Given the description of an element on the screen output the (x, y) to click on. 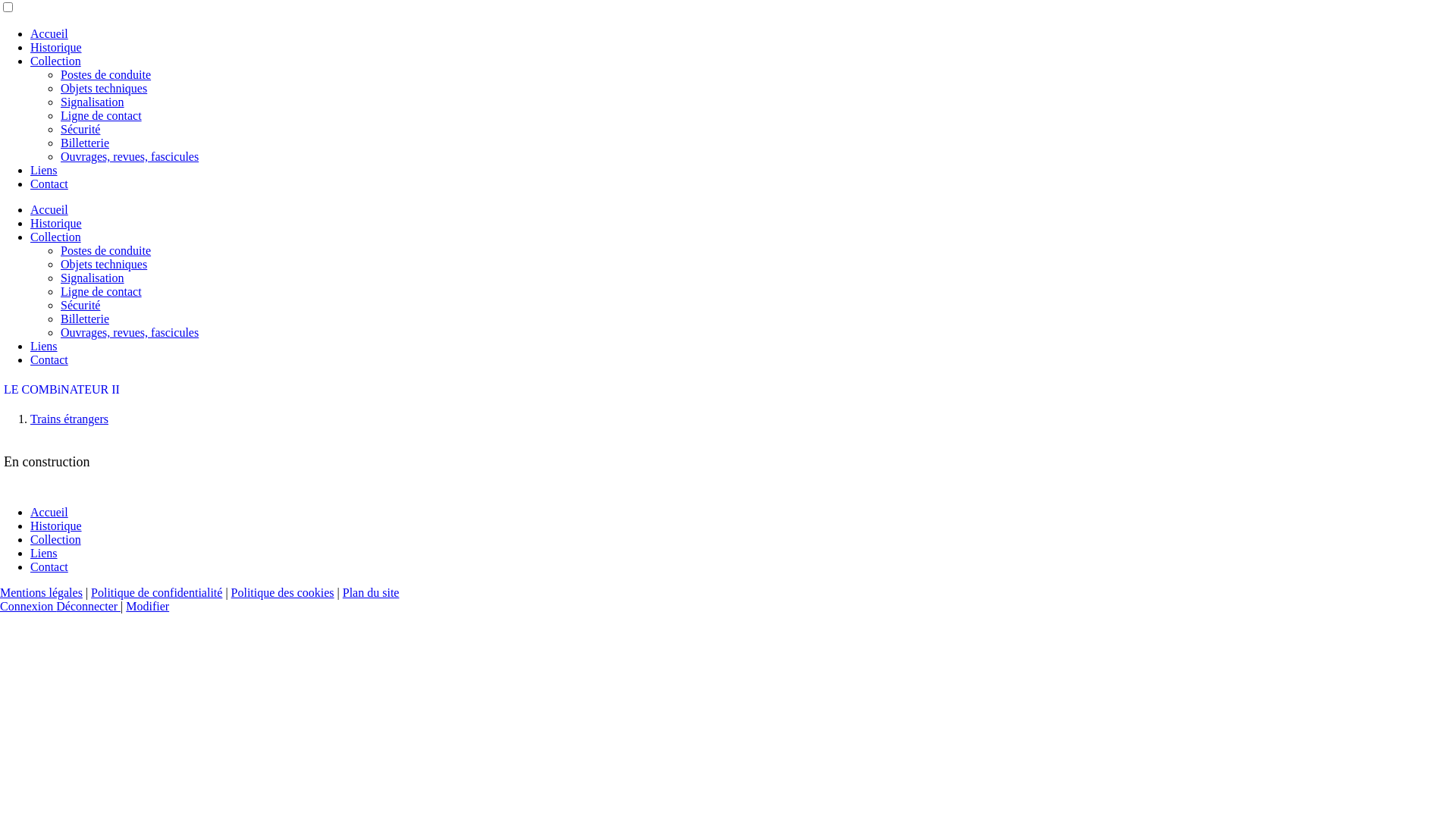
LE COMBiNATEUR II Element type: text (61, 388)
Collection Element type: text (55, 60)
Historique Element type: text (55, 525)
Collection Element type: text (55, 236)
Modifier Element type: text (147, 605)
Billetterie Element type: text (84, 318)
Accueil Element type: text (49, 209)
Billetterie Element type: text (84, 142)
Politique des cookies Element type: text (282, 592)
Liens Element type: text (43, 552)
Contact Element type: text (49, 359)
Ouvrages, revues, fascicules Element type: text (129, 332)
Contact Element type: text (49, 566)
Postes de conduite Element type: text (105, 250)
Collection Element type: text (55, 539)
Liens Element type: text (43, 169)
Postes de conduite Element type: text (105, 74)
Signalisation Element type: text (92, 277)
Ligne de contact Element type: text (100, 115)
Liens Element type: text (43, 345)
Contact Element type: text (49, 183)
Plan du site Element type: text (370, 592)
Signalisation Element type: text (92, 101)
Accueil Element type: text (49, 511)
Objets techniques Element type: text (103, 87)
Accueil Element type: text (49, 33)
Historique Element type: text (55, 46)
Ouvrages, revues, fascicules Element type: text (129, 156)
Connexion Element type: text (28, 605)
Objets techniques Element type: text (103, 263)
Historique Element type: text (55, 222)
Ligne de contact Element type: text (100, 291)
